Given the description of an element on the screen output the (x, y) to click on. 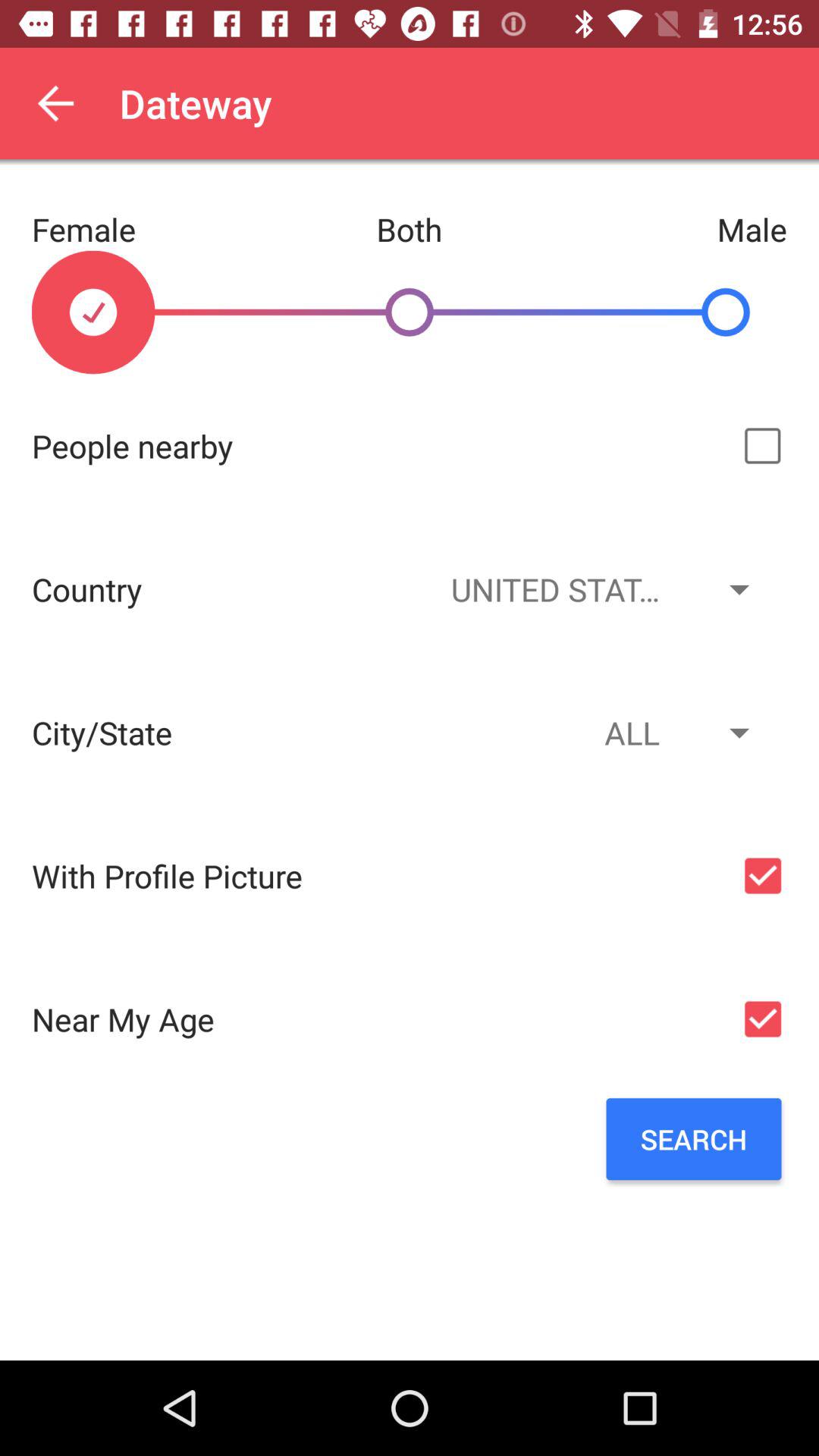
toggle the age filter (762, 1018)
